Given the description of an element on the screen output the (x, y) to click on. 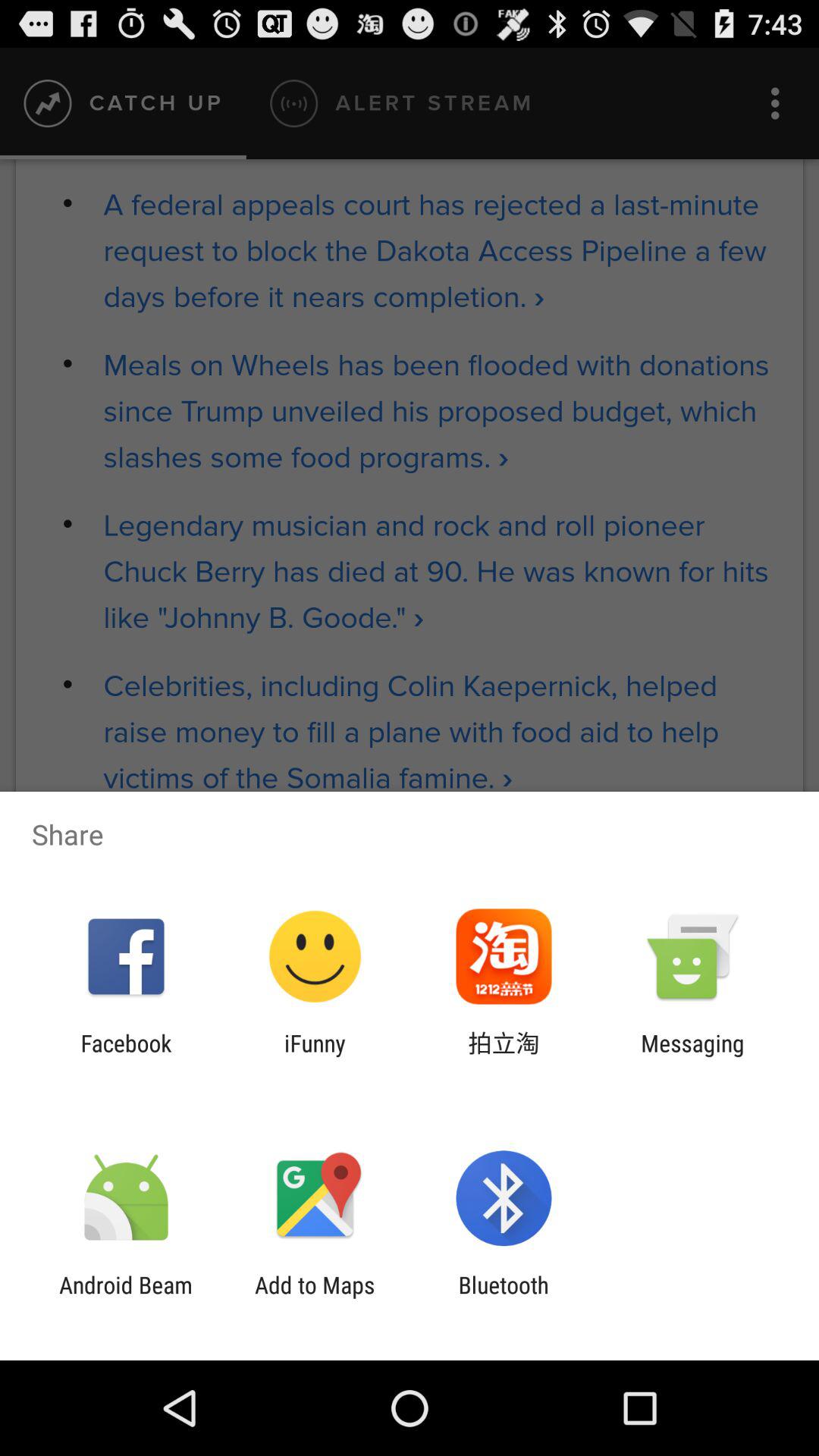
select app to the right of add to maps (503, 1298)
